Given the description of an element on the screen output the (x, y) to click on. 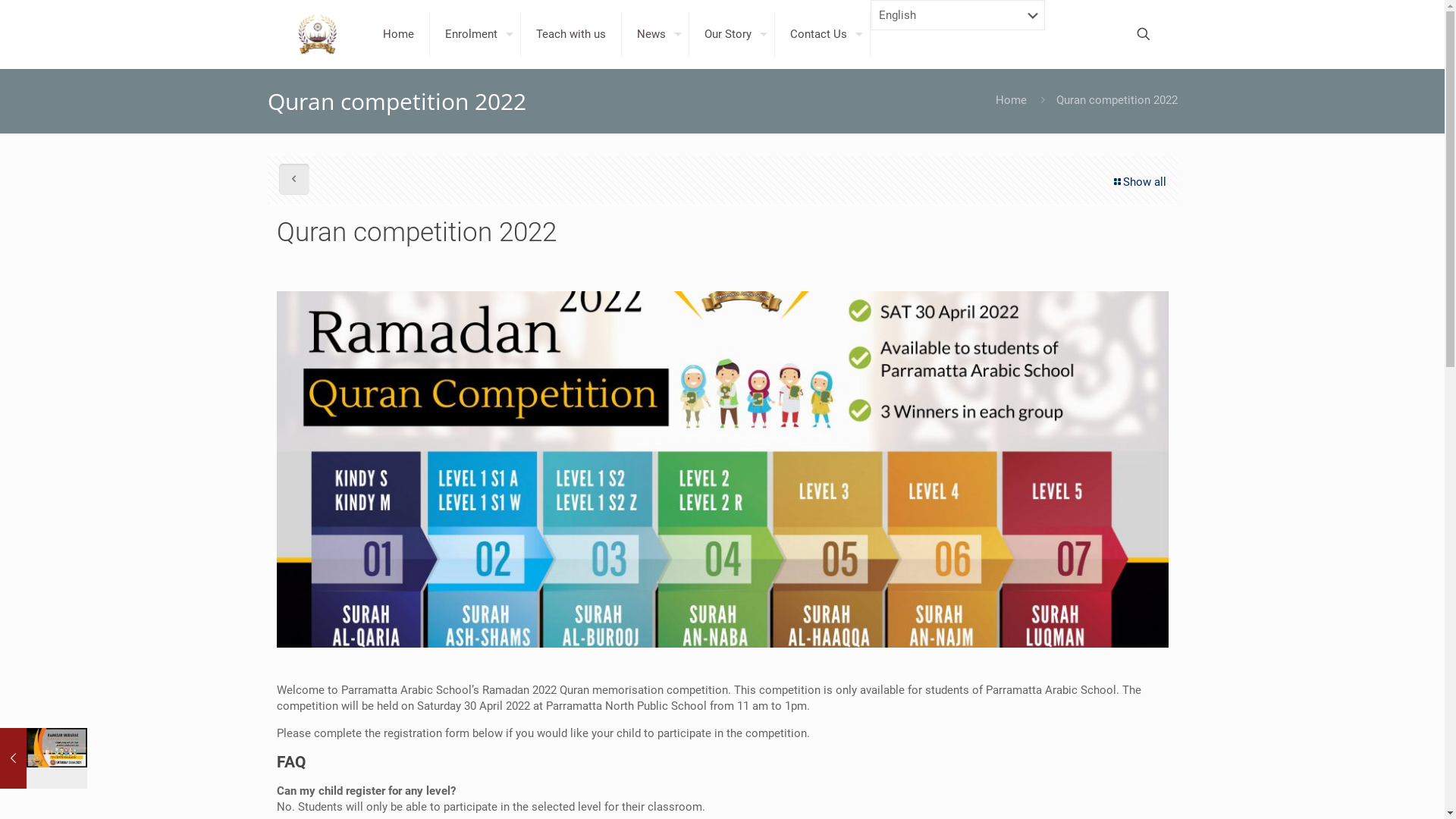
Home Element type: text (1010, 99)
Home Element type: text (398, 34)
LinkedIn Element type: hover (1098, 780)
Enrolment Element type: text (474, 34)
Facebook Element type: hover (1051, 780)
Instagram Element type: hover (1115, 780)
X (Twitter) Element type: hover (1067, 780)
Parramatta Mosque Element type: text (932, 610)
Contact Us Element type: text (822, 34)
Department of Education Element type: text (945, 673)
Parramatta Arabic School Element type: hover (318, 34)
WhatsApp Element type: hover (1035, 780)
Play and Learn Arabic with Koko Element type: text (963, 626)
Aljazeera Arabic Learning Element type: text (946, 658)
Teach with us Element type: text (570, 34)
Our Story Element type: text (732, 34)
Show all Element type: text (1138, 181)
News Element type: text (655, 34)
YouTube Element type: hover (1083, 780)
Itqaan Quran Series Element type: text (932, 642)
